Given the description of an element on the screen output the (x, y) to click on. 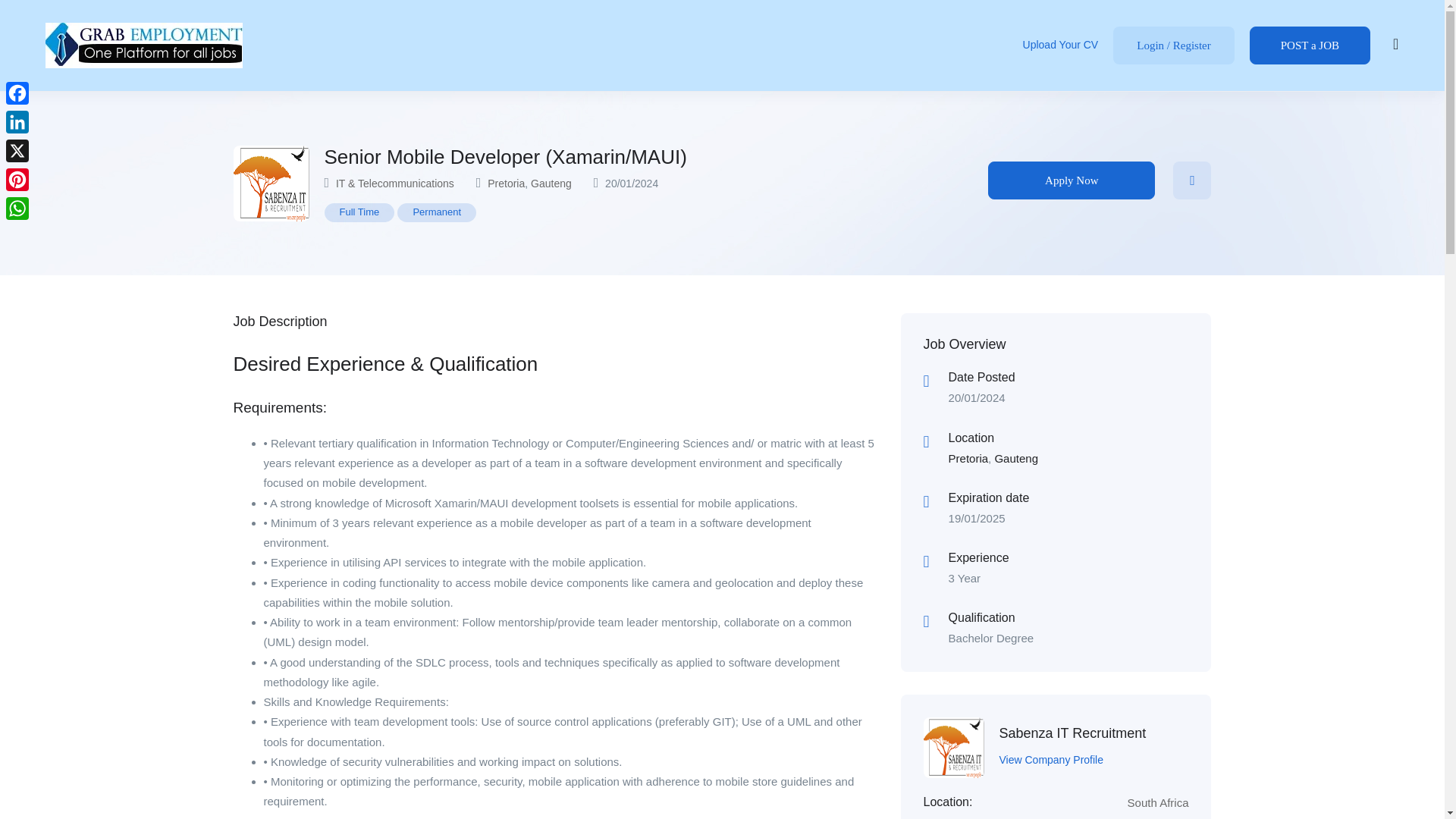
Sabenza IT Recruitment 1 (270, 183)
Gauteng (551, 183)
Upload Your CV (1061, 46)
POST a JOB (1309, 45)
Pretoria (505, 183)
